Given the description of an element on the screen output the (x, y) to click on. 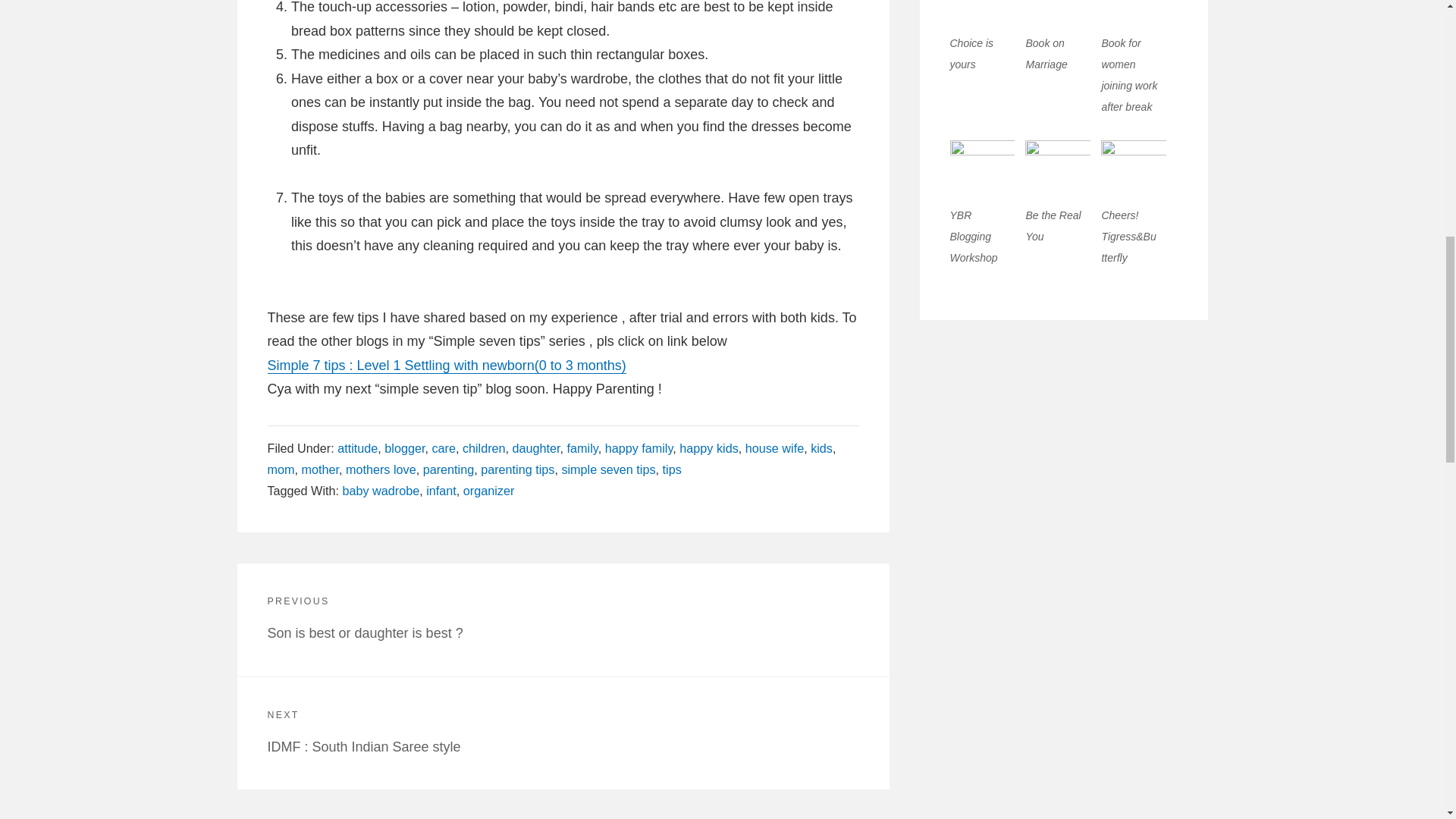
family (582, 448)
mom (280, 468)
mother (320, 468)
house wife (774, 448)
attitude (357, 448)
mothers love (381, 468)
kids (821, 448)
happy kids (708, 448)
blogger (404, 448)
happy family (638, 448)
